Given the description of an element on the screen output the (x, y) to click on. 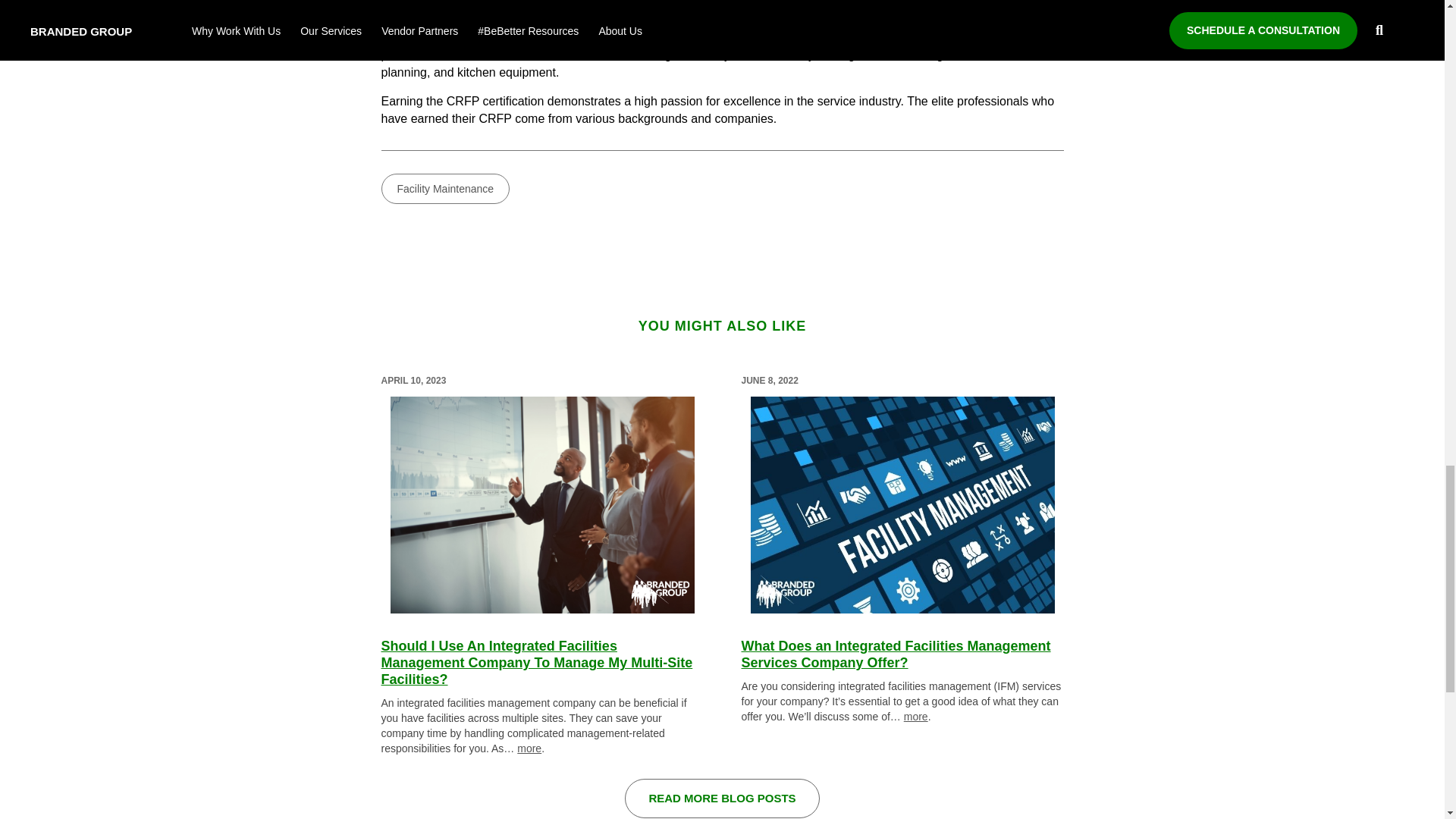
Facility Maintenance (444, 188)
more (916, 716)
more (528, 748)
READ MORE BLOG POSTS (721, 798)
